Given the description of an element on the screen output the (x, y) to click on. 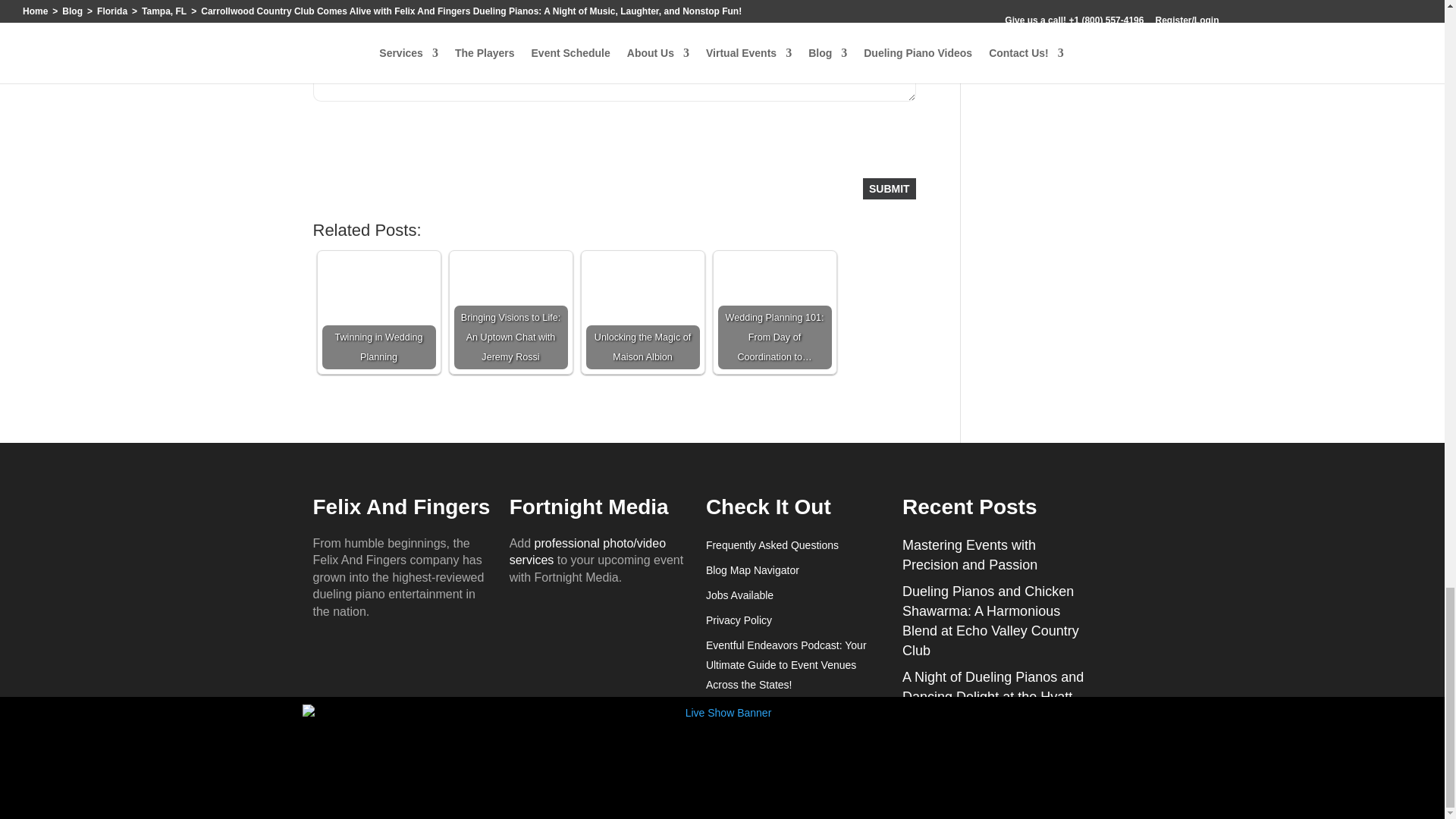
Bringing Visions to Life: An Uptown Chat with Jeremy Rossi (509, 312)
Twinning in Wedding Planning (378, 312)
Unlocking the Magic of Maison Albion (641, 312)
Submit (889, 188)
Mastering Events with Precision and Passion (969, 554)
